Given the description of an element on the screen output the (x, y) to click on. 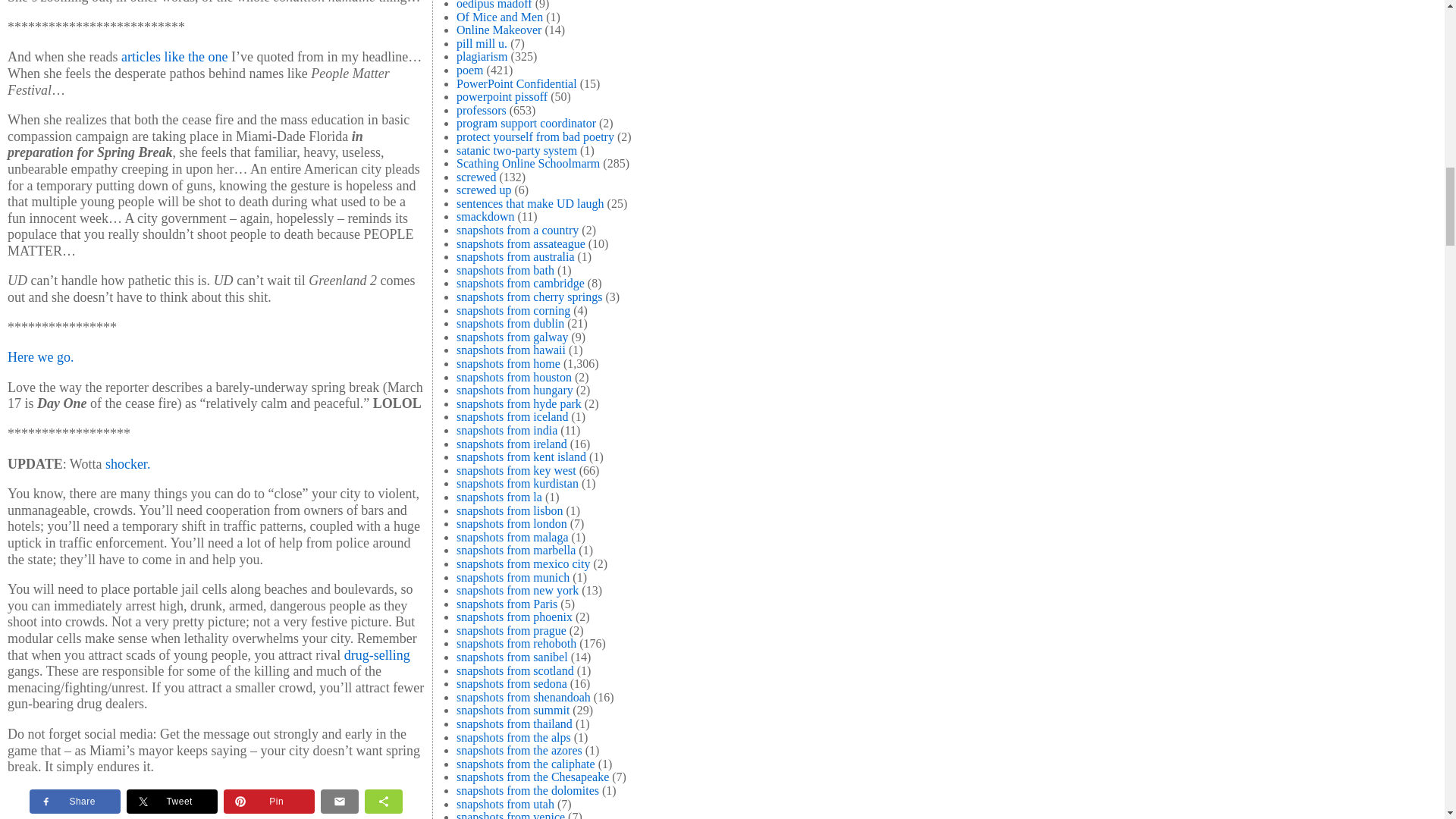
articles like the one (175, 56)
drug-selling (376, 654)
Here we go. (40, 356)
shocker. (126, 463)
